Given the description of an element on the screen output the (x, y) to click on. 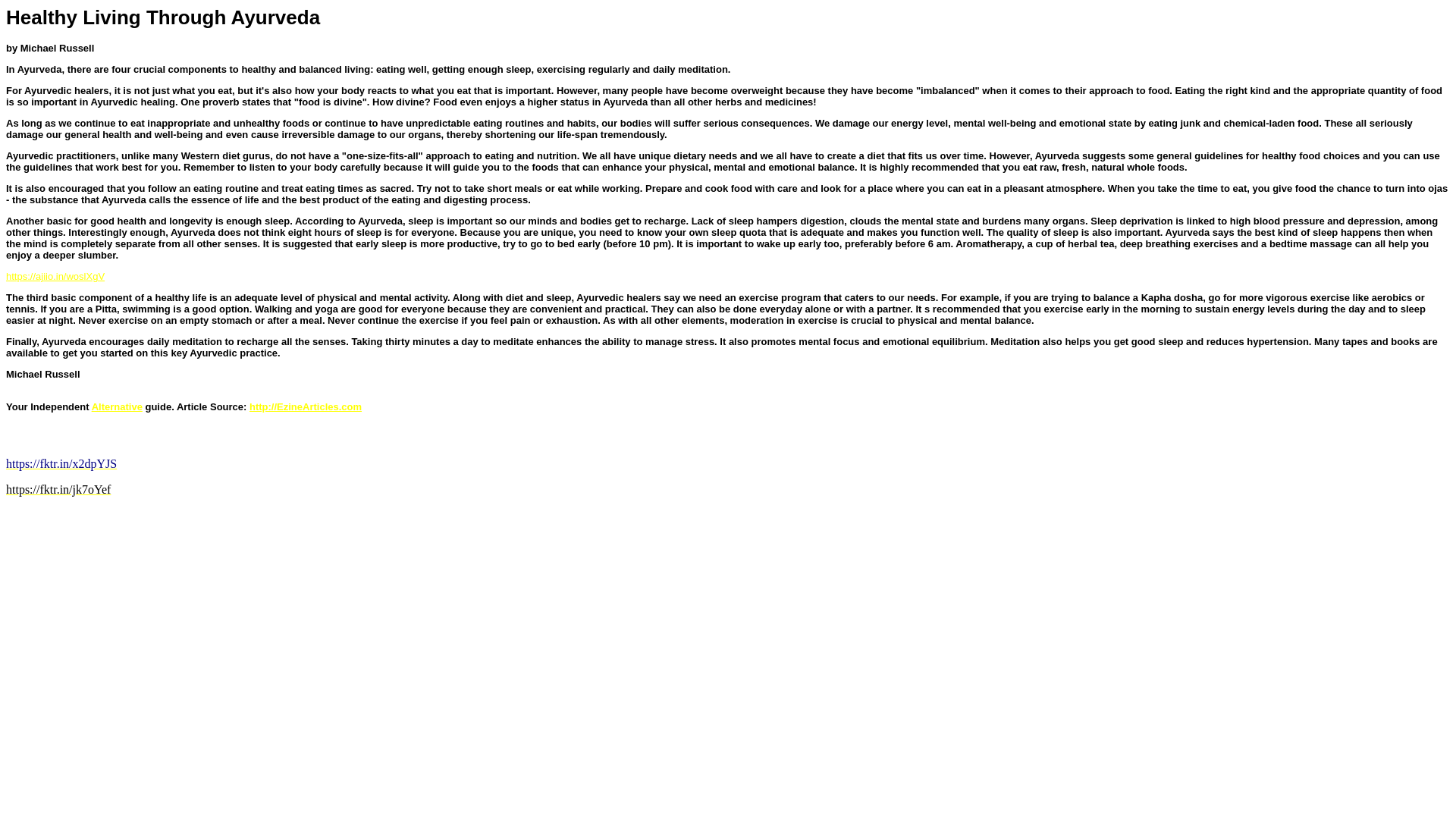
Alternative (116, 406)
